Given the description of an element on the screen output the (x, y) to click on. 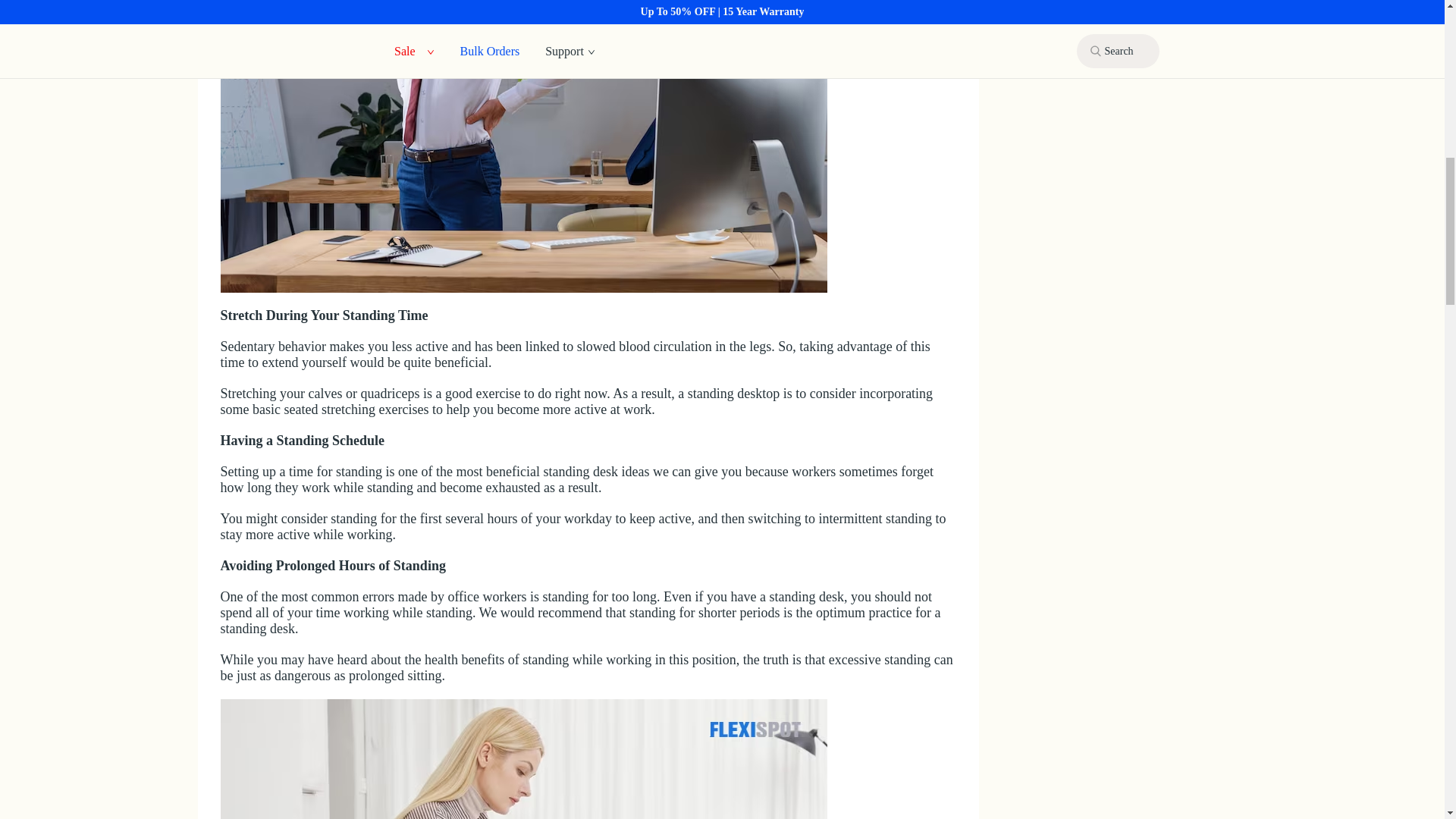
Sit2Go 2-in-1 Fitness Chair (523, 759)
